Given the description of an element on the screen output the (x, y) to click on. 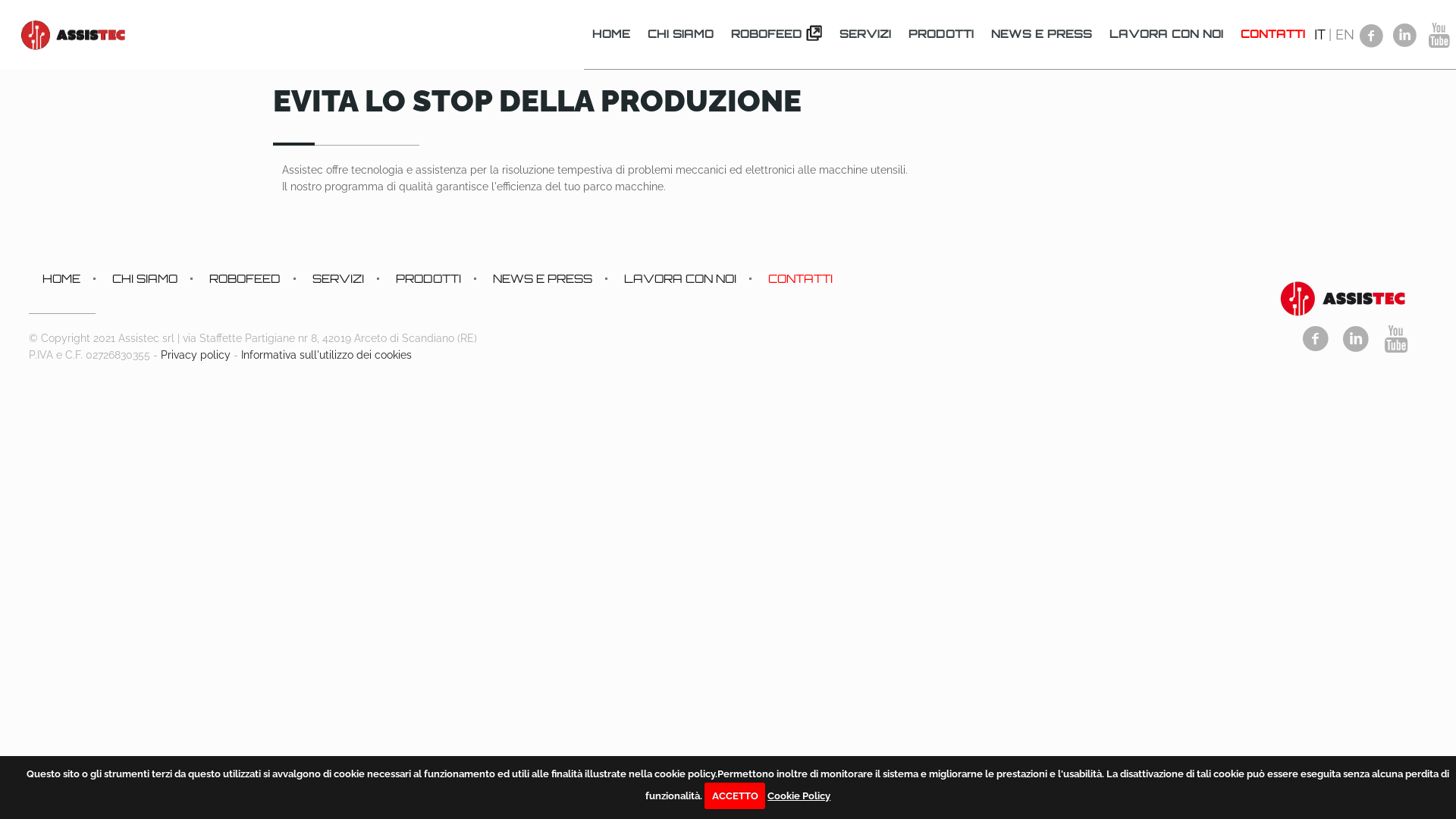
LAVORA CON NOI Element type: text (1166, 34)
CHI SIAMO Element type: text (680, 34)
ROBOFEED Element type: text (245, 278)
SERVIZI Element type: text (865, 34)
PRODOTTI Element type: text (429, 278)
HOME Element type: text (611, 34)
Assistec Element type: hover (74, 34)
HOME Element type: text (61, 278)
CONTATTI Element type: text (793, 278)
Cookie Policy Element type: text (798, 795)
EN Element type: text (1344, 34)
LAVORA CON NOI Element type: text (680, 278)
NEWS E PRESS Element type: text (543, 278)
ROBOFEED Element type: text (776, 34)
CHI SIAMO Element type: text (145, 278)
NEWS E PRESS Element type: text (1041, 34)
Linkedin Element type: hover (1355, 338)
Youtube Element type: hover (1396, 338)
PRODOTTI Element type: text (941, 34)
Facebook Element type: hover (1315, 338)
Privacy policy Element type: text (195, 354)
IT Element type: text (1319, 34)
ACCETTO Element type: text (734, 795)
CONTATTI Element type: text (1273, 34)
Informativa sull'utilizzo dei cookies Element type: text (326, 354)
SERVIZI Element type: text (338, 278)
